Given the description of an element on the screen output the (x, y) to click on. 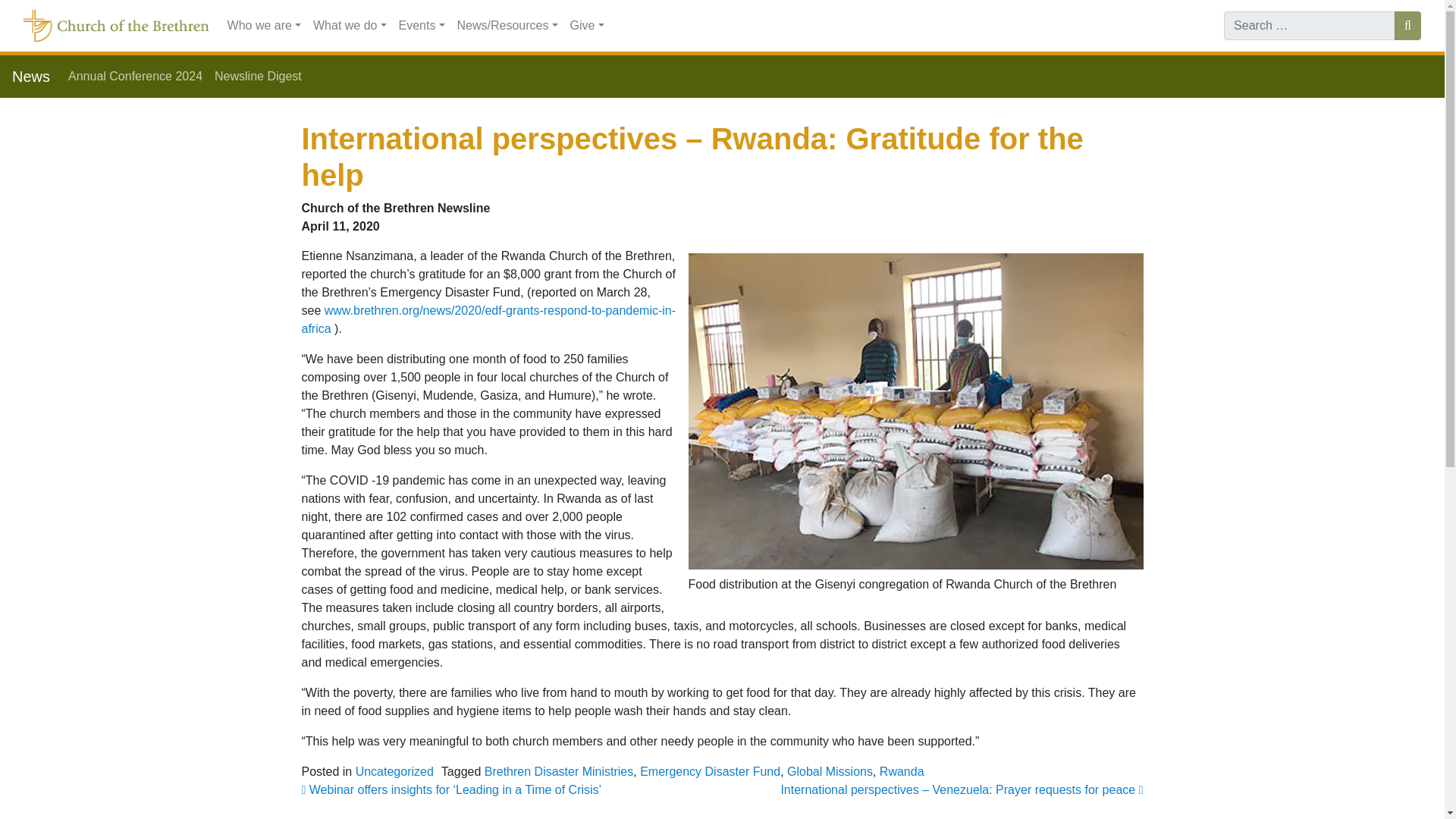
What we do (350, 25)
Who we are (264, 25)
What we do (350, 25)
Events (422, 25)
Who we are (264, 25)
